Given the description of an element on the screen output the (x, y) to click on. 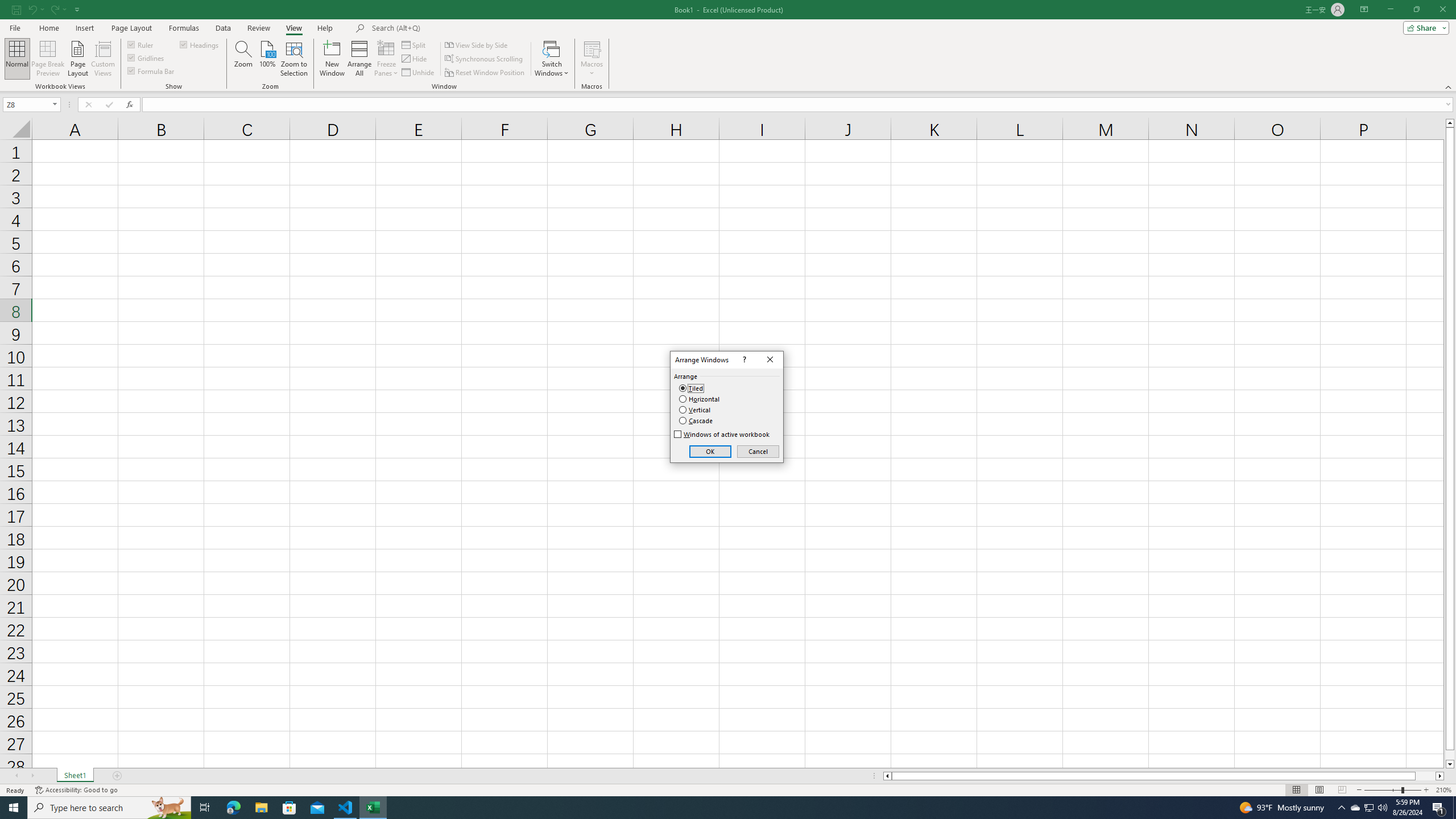
Running applications (717, 807)
Tiled (691, 388)
Unhide... (419, 72)
Windows of active workbook (722, 433)
Headings (199, 44)
Class: MsoCommandBar (728, 45)
